Given the description of an element on the screen output the (x, y) to click on. 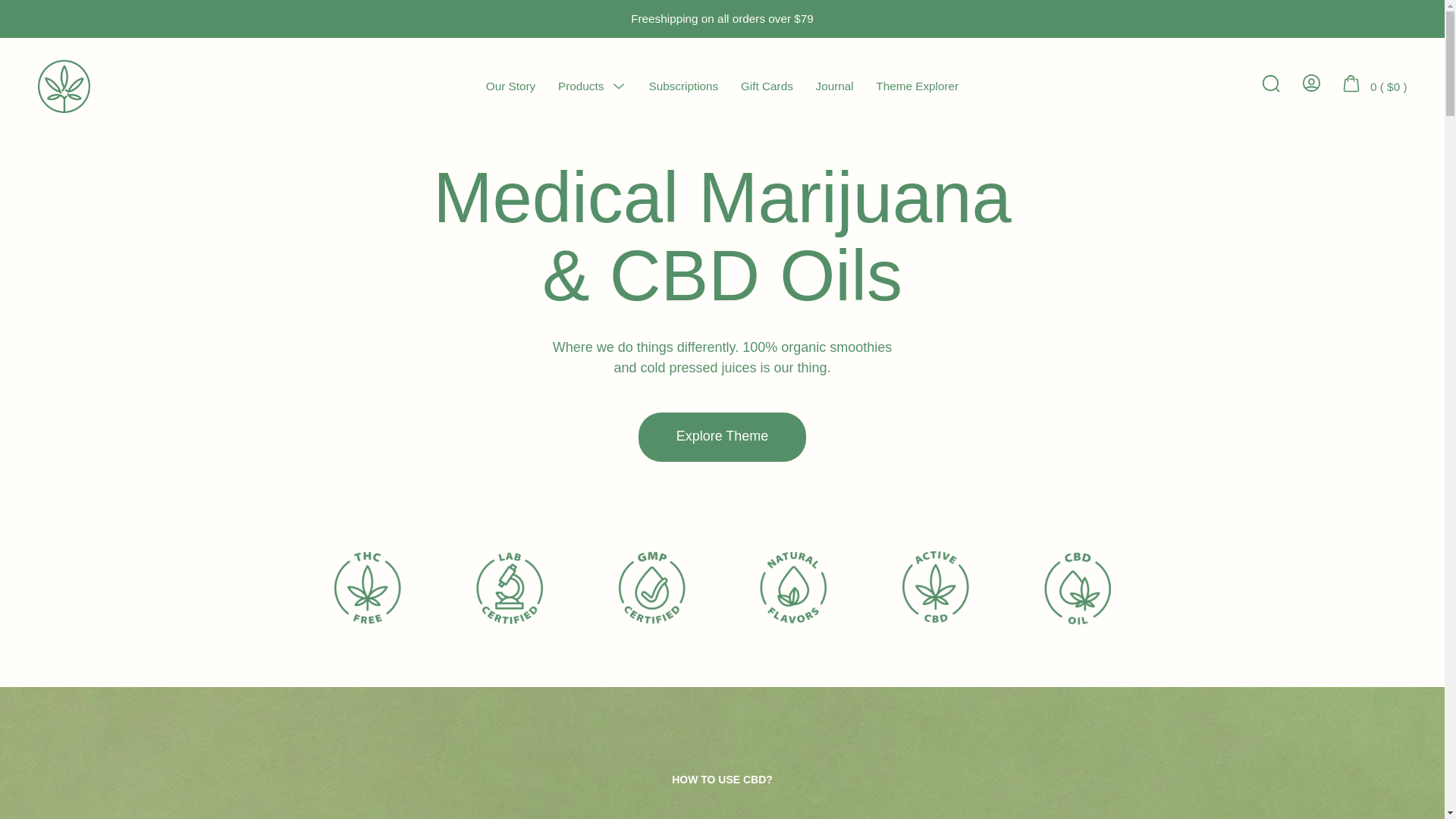
Theme Explorer (917, 85)
Go To My Account (1310, 84)
Gift Cards (767, 85)
Menu Toggle (618, 85)
Subscriptions (682, 85)
Explore Theme (722, 436)
Journal (834, 85)
Products (580, 85)
Go To My Account (1310, 82)
Search (1269, 82)
Search Toggle (1269, 84)
Our Story (510, 85)
